Given the description of an element on the screen output the (x, y) to click on. 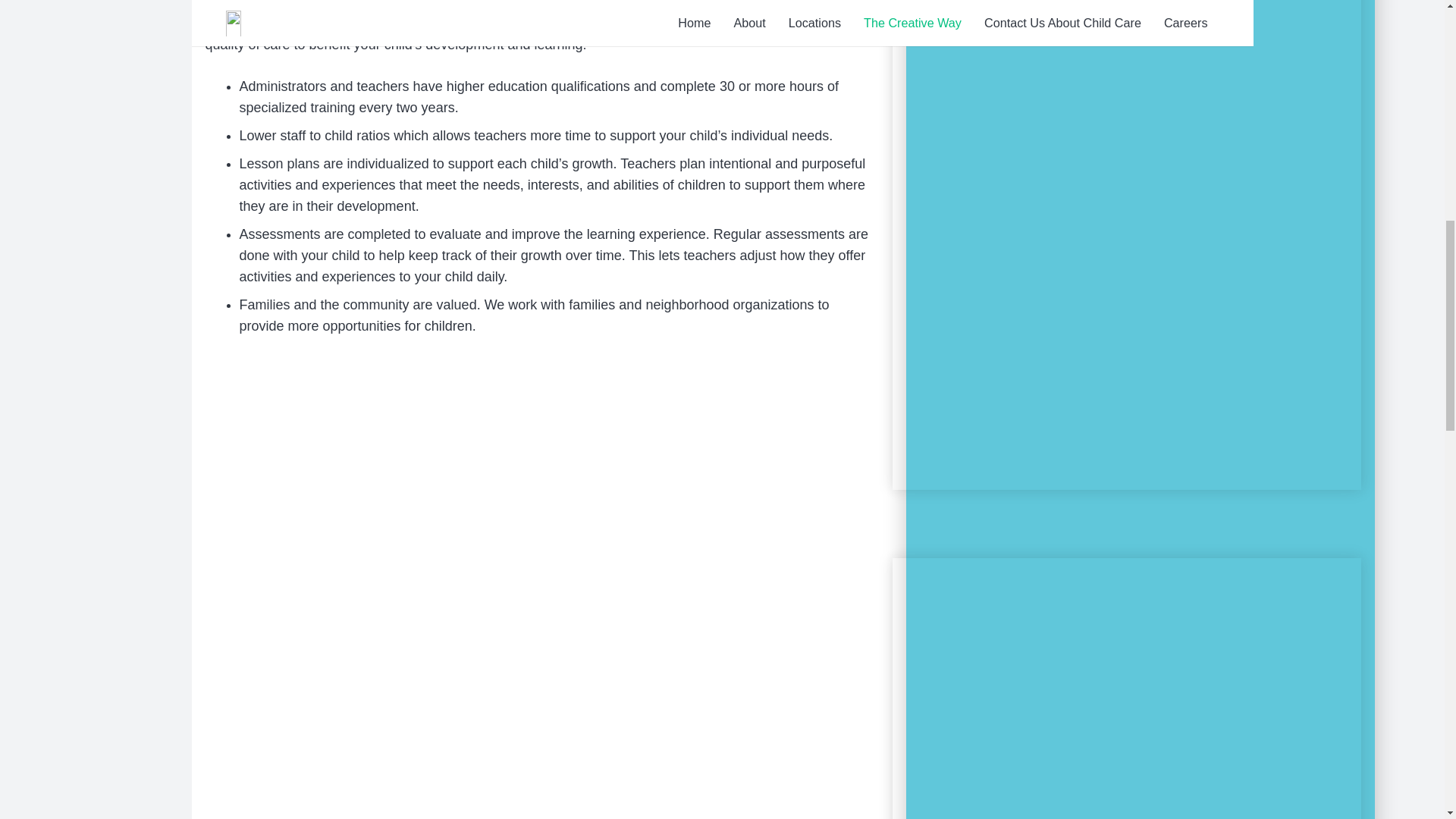
Back to top (1413, 37)
